Given the description of an element on the screen output the (x, y) to click on. 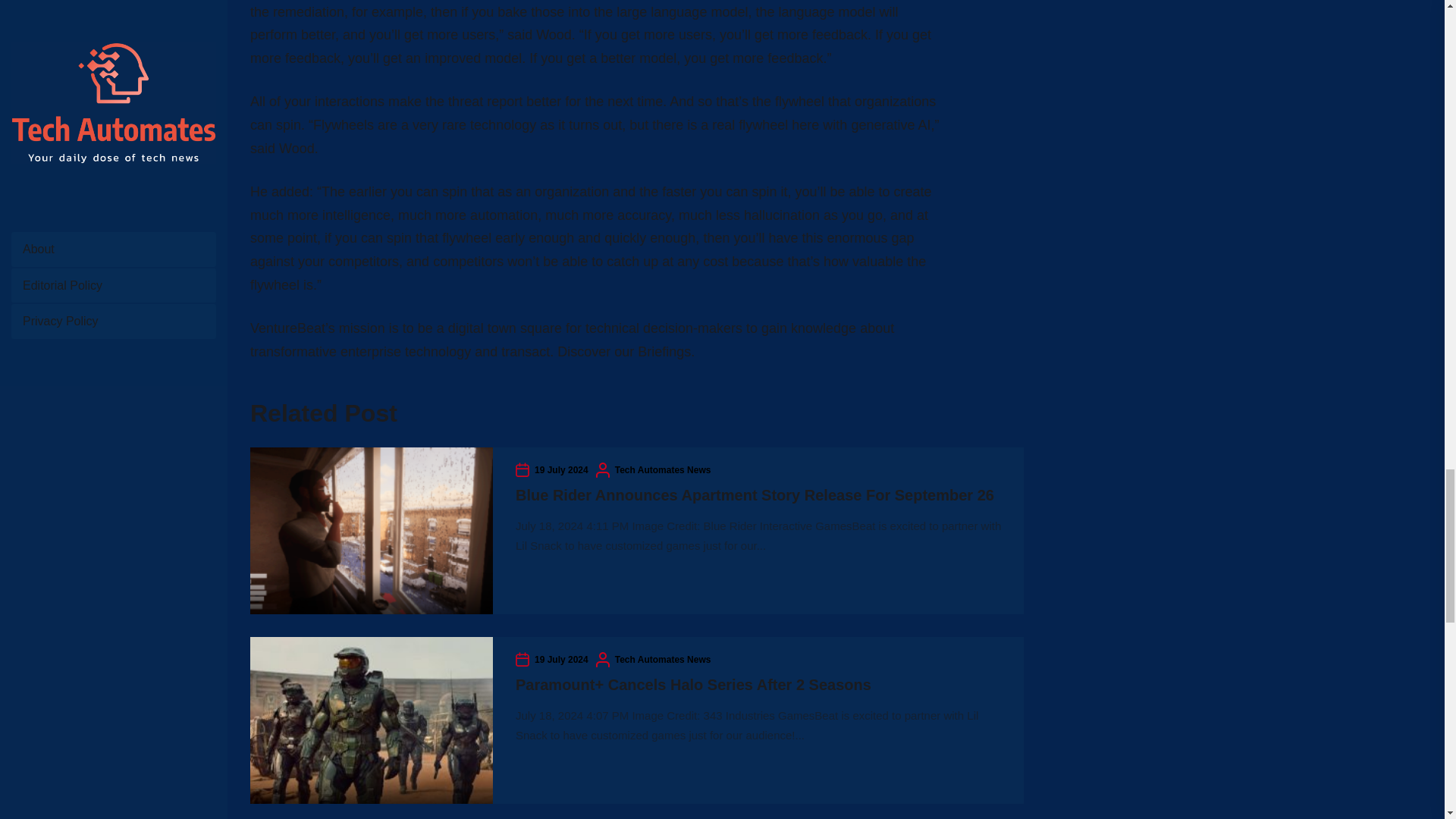
Tech Automates News (662, 469)
Tech Automates News (662, 659)
19 July 2024 (561, 469)
19 July 2024 (561, 659)
